Given the description of an element on the screen output the (x, y) to click on. 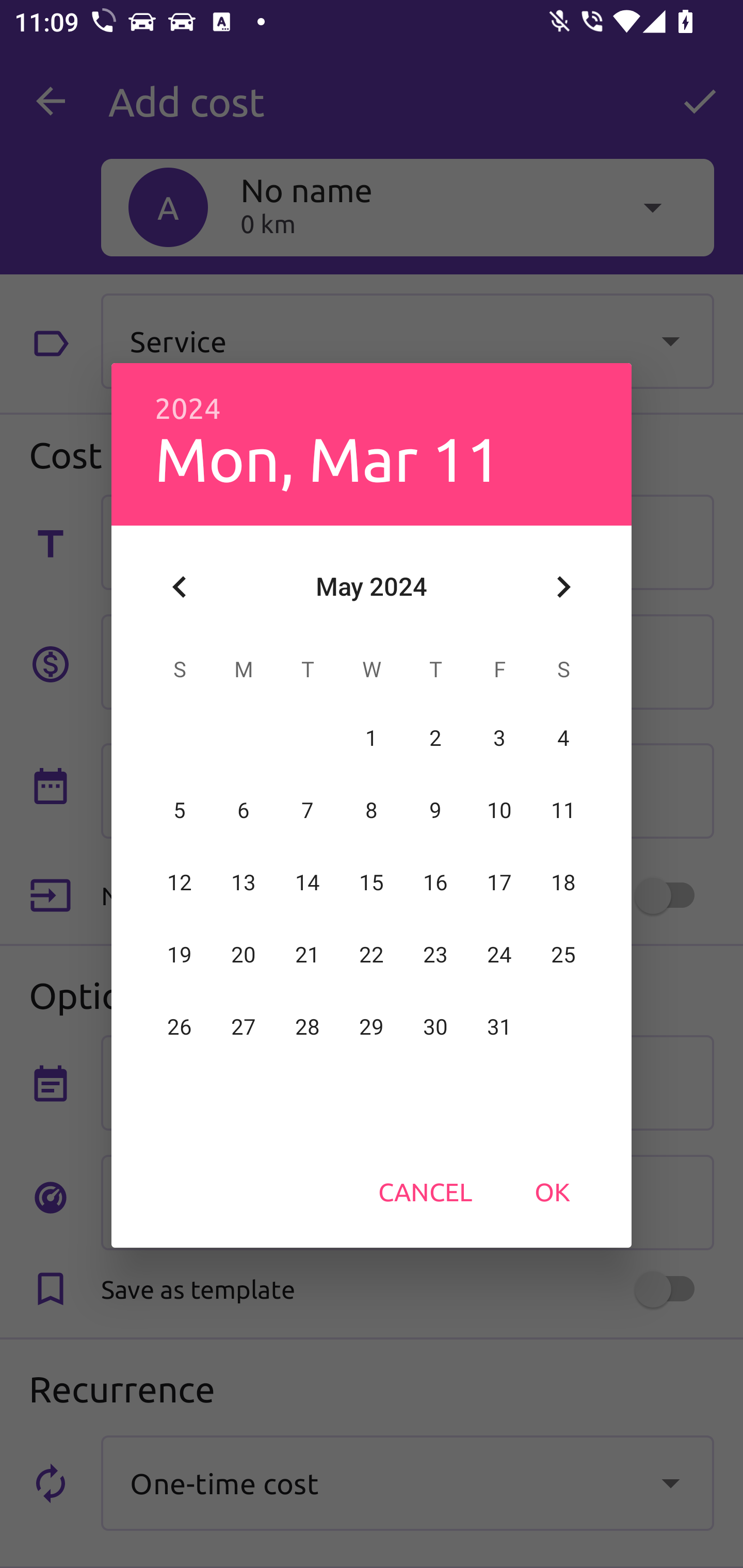
2024 (187, 408)
Mon, Mar 11 (327, 458)
Previous month (178, 587)
Next month (563, 587)
1 01 May 2024 (371, 738)
2 02 May 2024 (435, 738)
3 03 May 2024 (499, 738)
4 04 May 2024 (563, 738)
5 05 May 2024 (179, 810)
6 06 May 2024 (243, 810)
7 07 May 2024 (307, 810)
8 08 May 2024 (371, 810)
9 09 May 2024 (435, 810)
10 10 May 2024 (499, 810)
11 11 May 2024 (563, 810)
12 12 May 2024 (179, 882)
13 13 May 2024 (243, 882)
14 14 May 2024 (307, 882)
15 15 May 2024 (371, 882)
16 16 May 2024 (435, 882)
17 17 May 2024 (499, 882)
18 18 May 2024 (563, 882)
19 19 May 2024 (179, 954)
20 20 May 2024 (243, 954)
21 21 May 2024 (307, 954)
22 22 May 2024 (371, 954)
23 23 May 2024 (435, 954)
24 24 May 2024 (499, 954)
25 25 May 2024 (563, 954)
26 26 May 2024 (179, 1026)
27 27 May 2024 (243, 1026)
28 28 May 2024 (307, 1026)
29 29 May 2024 (371, 1026)
30 30 May 2024 (435, 1026)
31 31 May 2024 (499, 1026)
CANCEL (425, 1191)
OK (552, 1191)
